Given the description of an element on the screen output the (x, y) to click on. 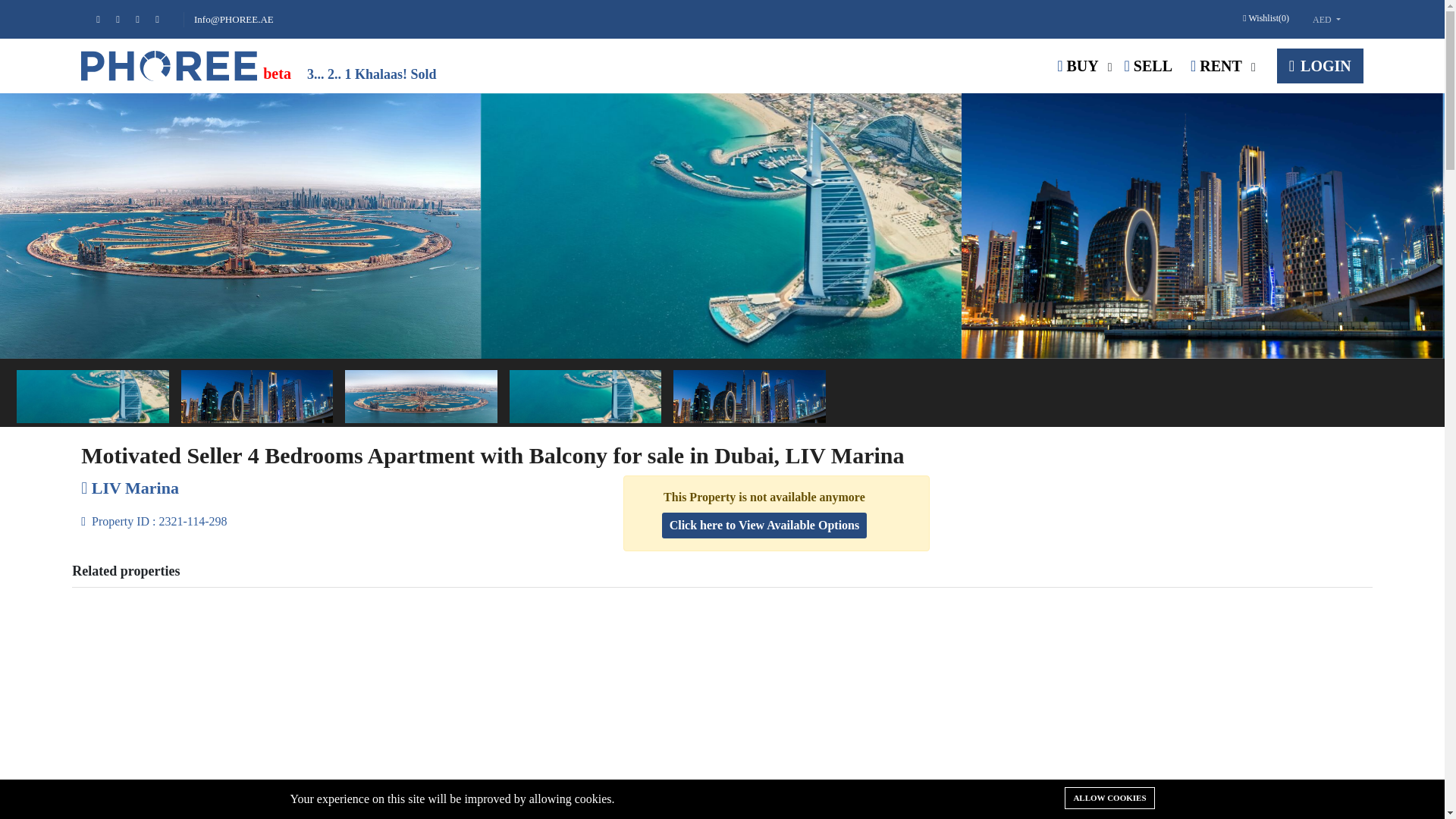
Linkedin (145, 19)
BUY (1078, 65)
beta 3... 2.. 1 Khalaas! Sold (261, 65)
LOGIN (1319, 65)
Facebook (106, 19)
Twitter (125, 19)
RENT (1216, 65)
AED (1326, 19)
Instagram (164, 19)
SELL (1147, 65)
Click here to View Available Options (764, 525)
